Given the description of an element on the screen output the (x, y) to click on. 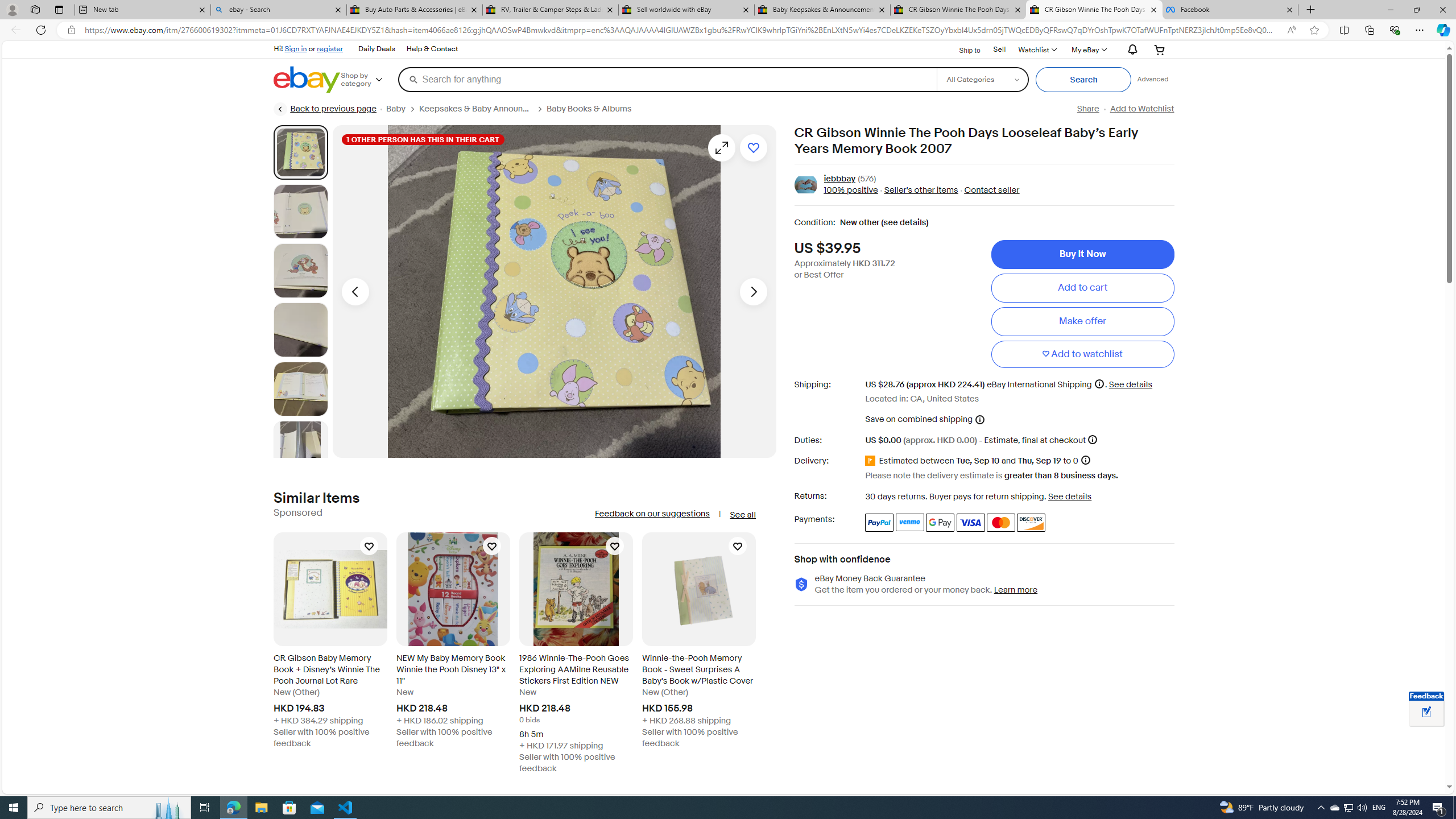
eBay Home (306, 79)
WatchlistExpand Watch List (1036, 49)
Contact seller (991, 190)
My eBay (1088, 49)
See details - for more information about returns (1070, 496)
100% positive (850, 190)
PayPal (878, 521)
Class: ux-action (804, 184)
Opens image gallery (721, 147)
  Seller's other items (917, 190)
  Contact seller (988, 190)
Shop by category (368, 79)
Share (1087, 108)
